Given the description of an element on the screen output the (x, y) to click on. 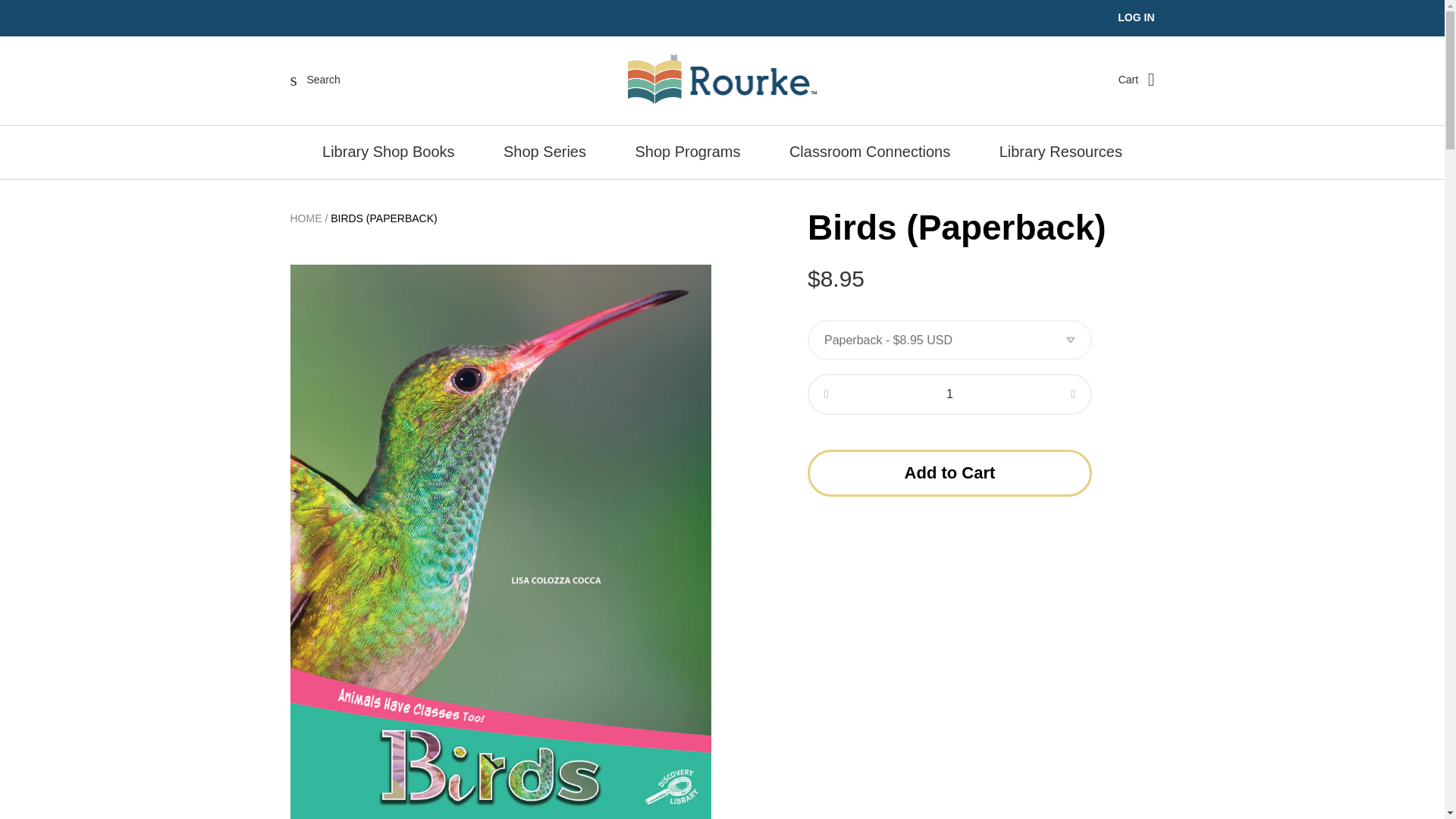
1 (950, 393)
LOG IN (1136, 17)
Search (315, 78)
Back to the frontpage (305, 217)
